Given the description of an element on the screen output the (x, y) to click on. 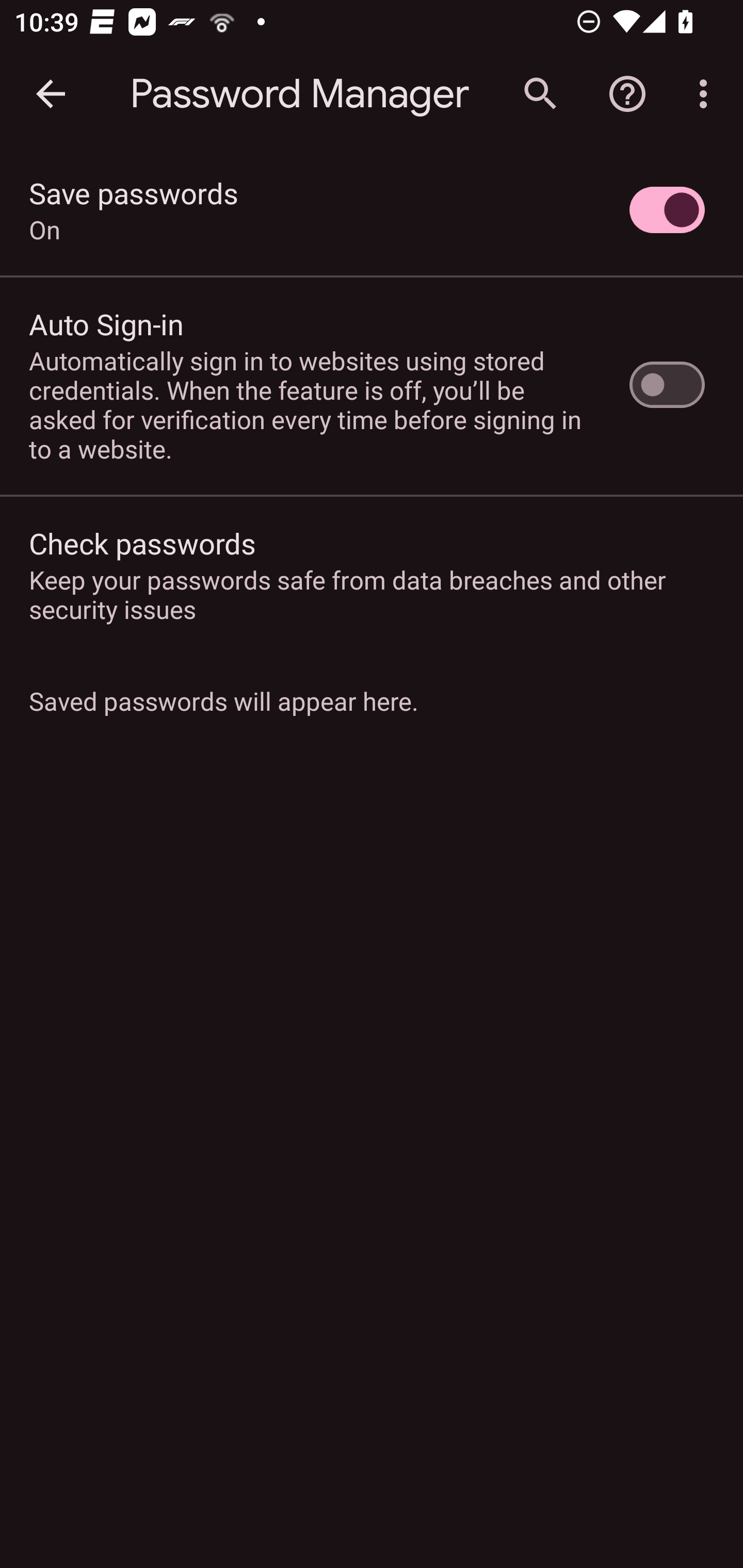
Navigate up (50, 93)
Search (540, 93)
Help & feedback (626, 93)
More options (706, 93)
Save passwords On (371, 209)
